Given the description of an element on the screen output the (x, y) to click on. 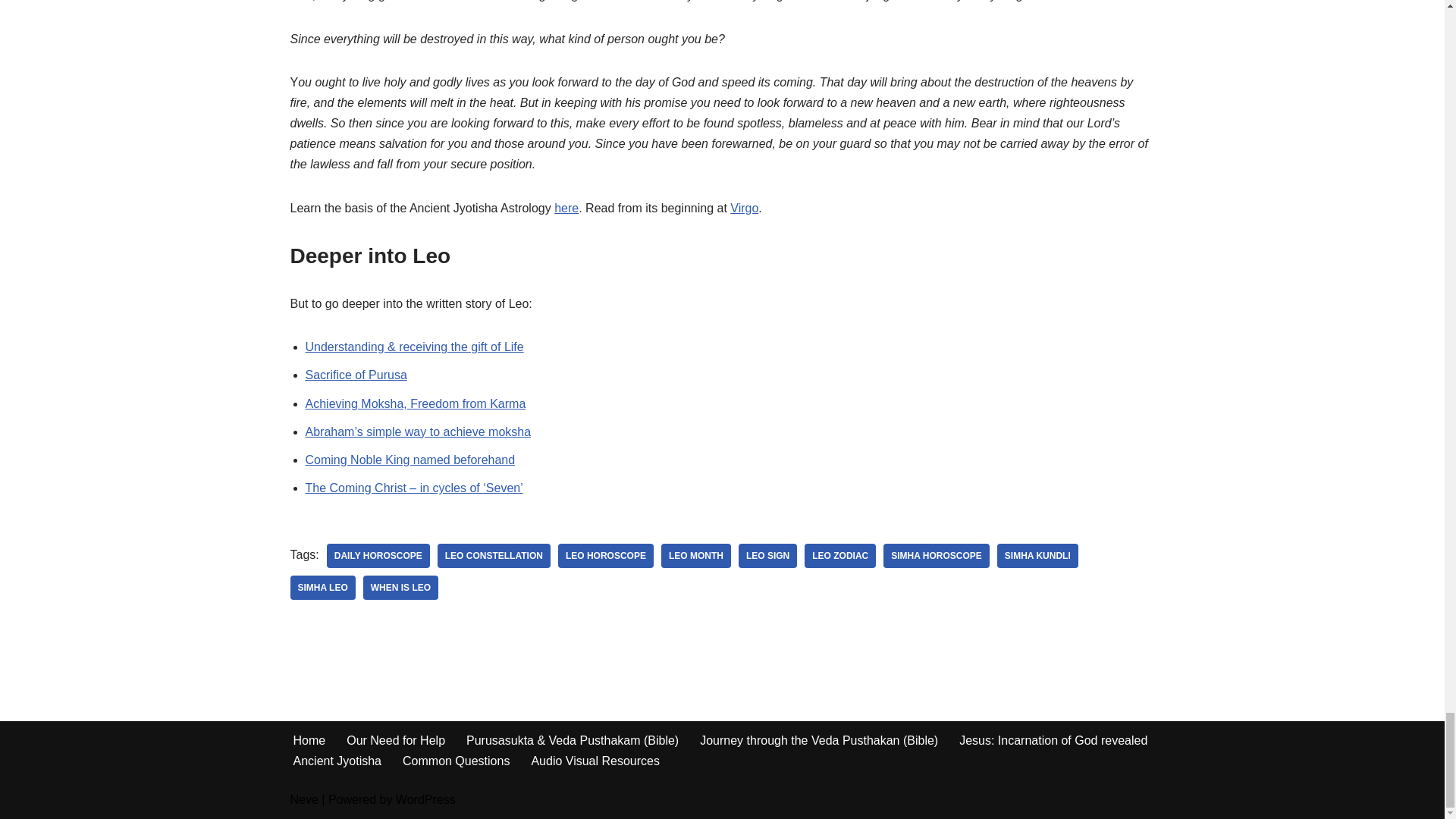
Simha horoscope (936, 555)
Simha Leo (322, 587)
Simha kundli (1037, 555)
Leo zodiac (840, 555)
Leo horoscope (605, 555)
daily horoscope (377, 555)
when is Leo (400, 587)
Leo month (695, 555)
Leo sign (767, 555)
Leo constellation (494, 555)
